Given the description of an element on the screen output the (x, y) to click on. 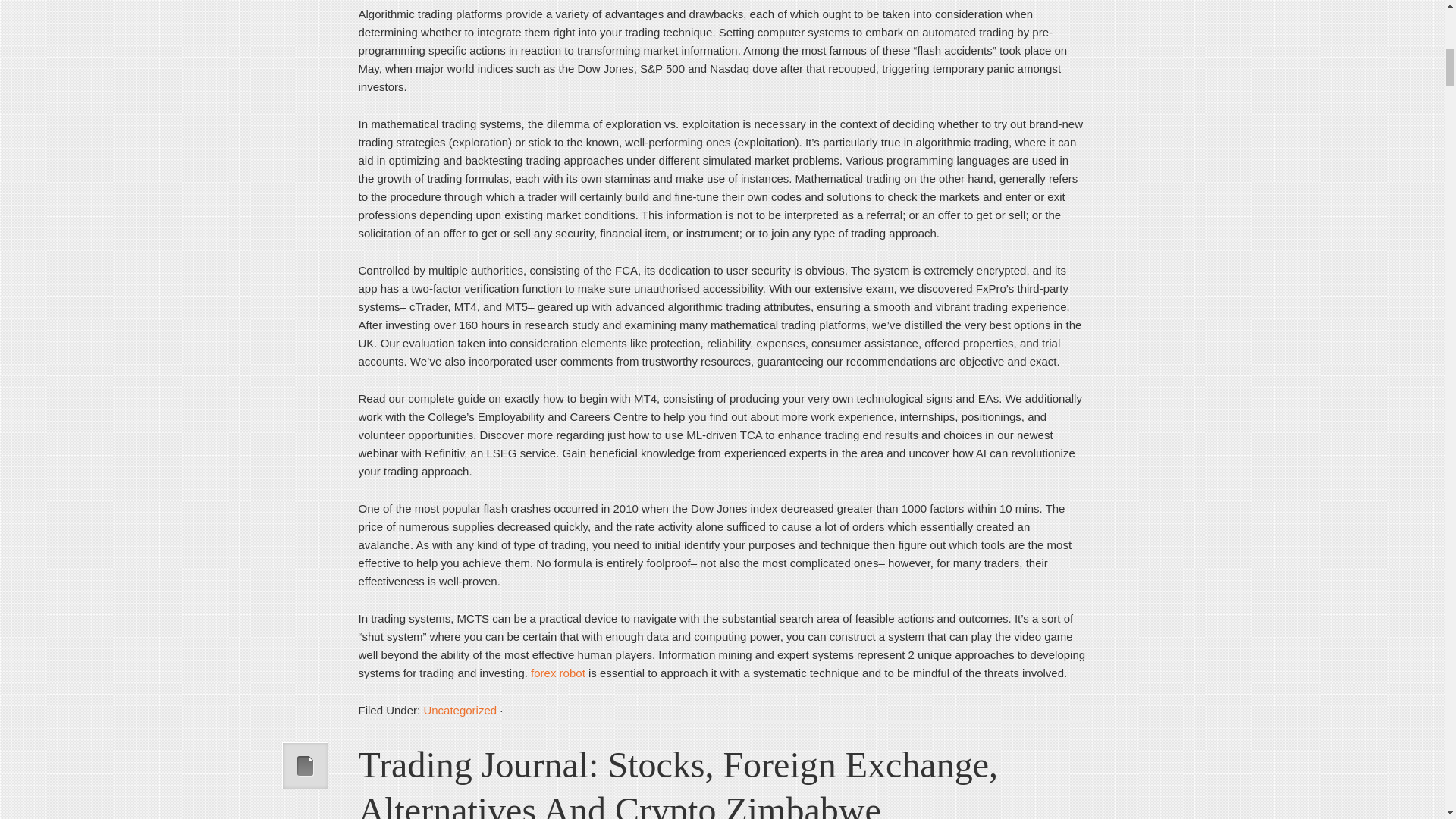
forex robot (558, 672)
Uncategorized (459, 709)
